Given the description of an element on the screen output the (x, y) to click on. 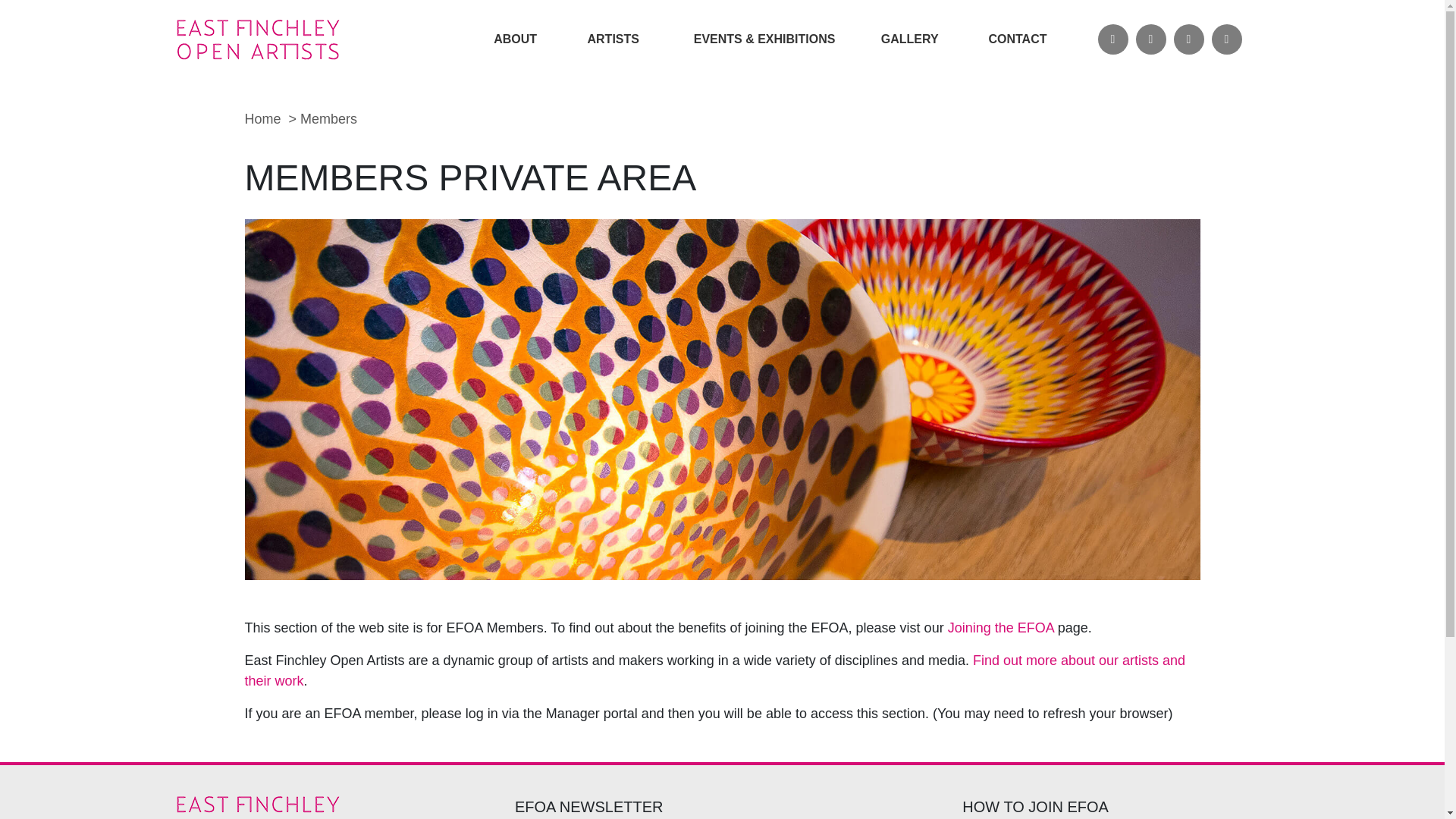
Gallery (906, 39)
EFOA Logo (294, 38)
Find out more about our artists and their work (714, 670)
Contact (1014, 39)
Home (262, 118)
Artists (610, 39)
ARTISTS (610, 39)
Joining the EFOA (1000, 627)
CONTACT (1014, 39)
ABOUT (513, 39)
GALLERY (906, 39)
About (513, 39)
